Given the description of an element on the screen output the (x, y) to click on. 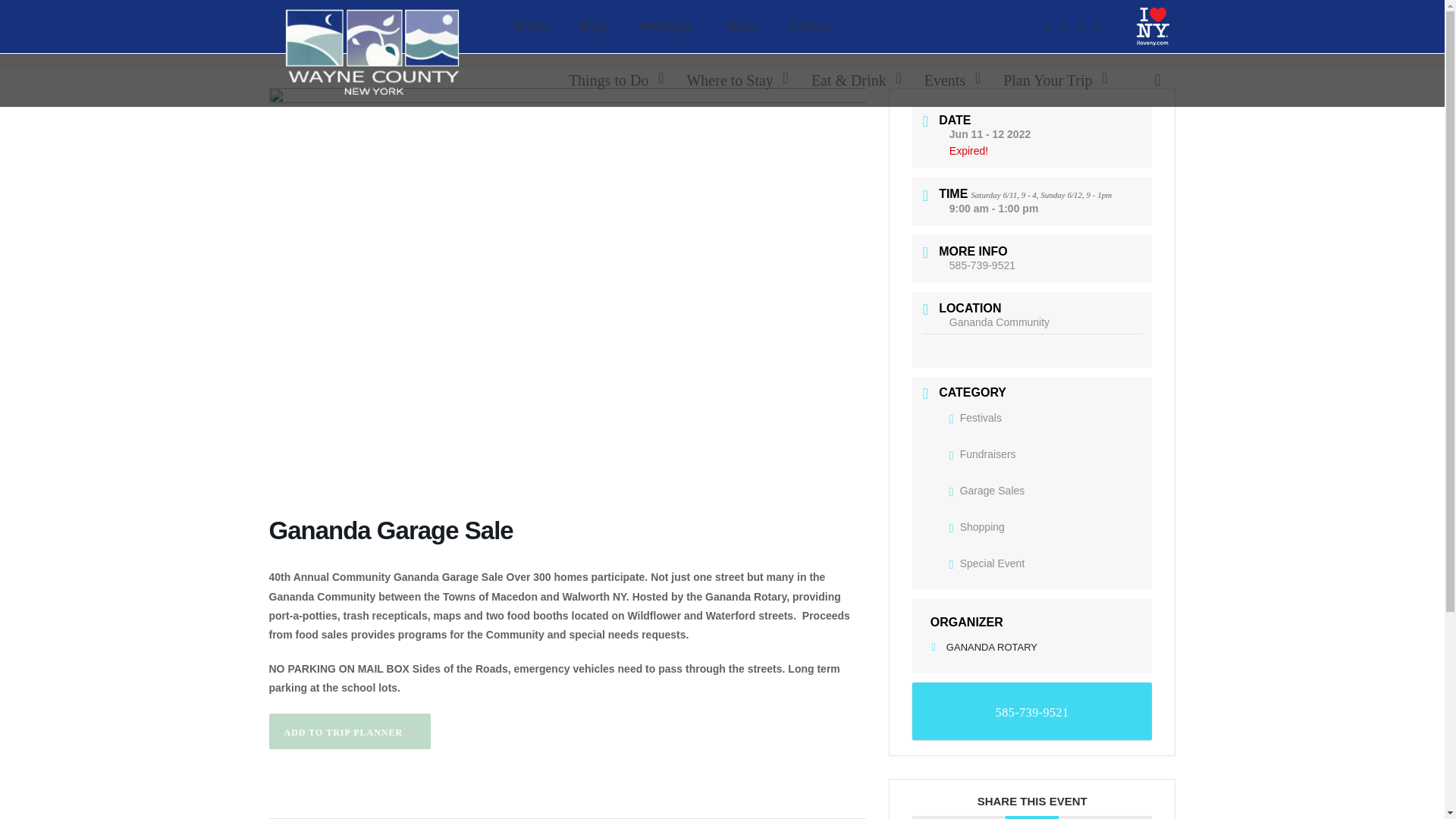
Things to Do (612, 80)
About (741, 26)
Contact (810, 26)
Blog (594, 26)
Weddings (666, 26)
Media (532, 26)
Where to Stay (732, 80)
